Given the description of an element on the screen output the (x, y) to click on. 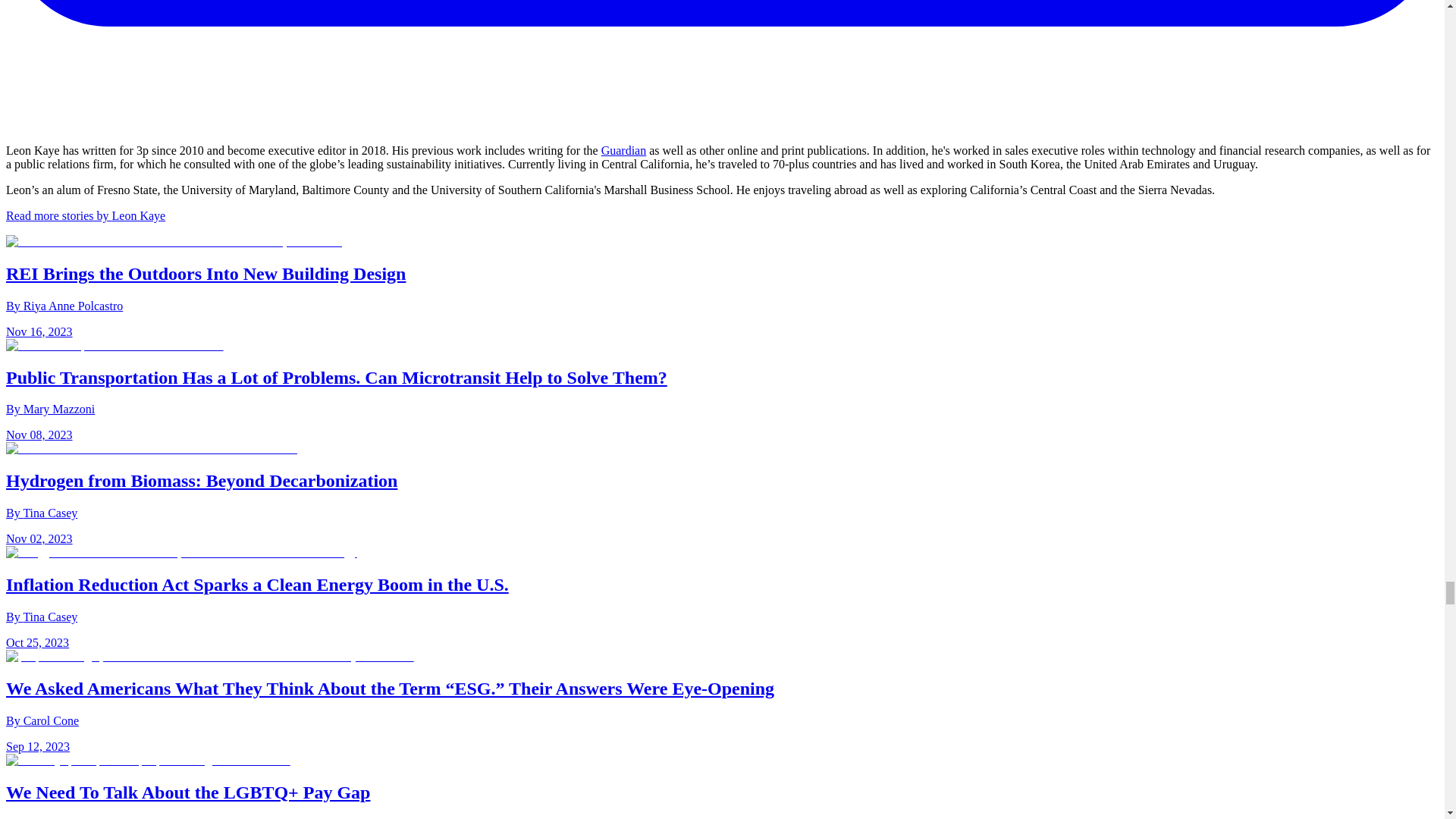
Read more stories by Leon Kaye (85, 215)
Guardian (623, 150)
Leon Kaye author page (85, 215)
